Given the description of an element on the screen output the (x, y) to click on. 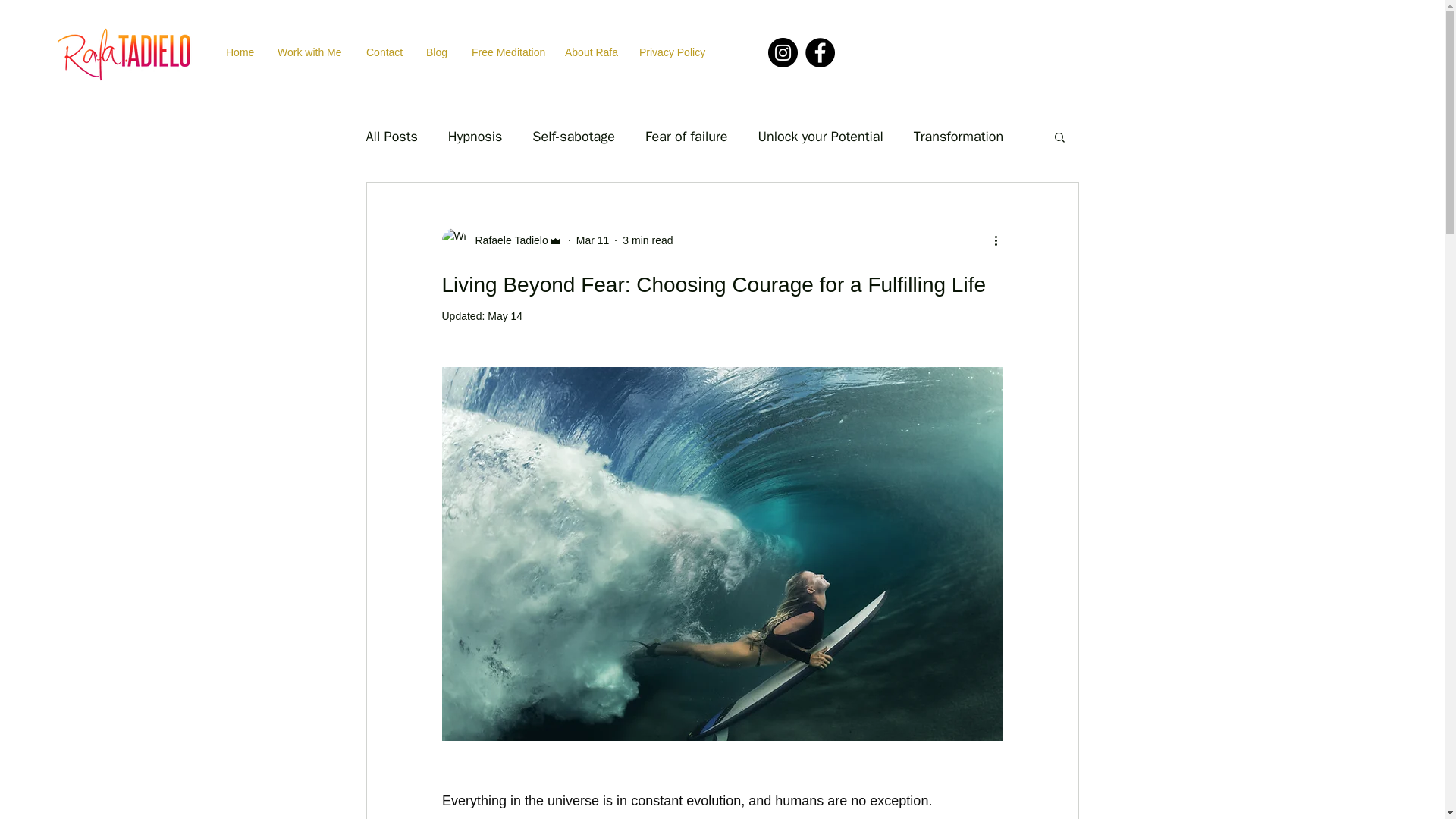
Home (243, 52)
Self-sabotage (573, 136)
May 14 (504, 316)
Contact (388, 52)
Rafaele Tadielo (501, 240)
Rafaele Tadielo (506, 239)
3 min read (647, 239)
Transformation (958, 136)
Fear of failure (686, 136)
Unlock your Potential (819, 136)
